Given the description of an element on the screen output the (x, y) to click on. 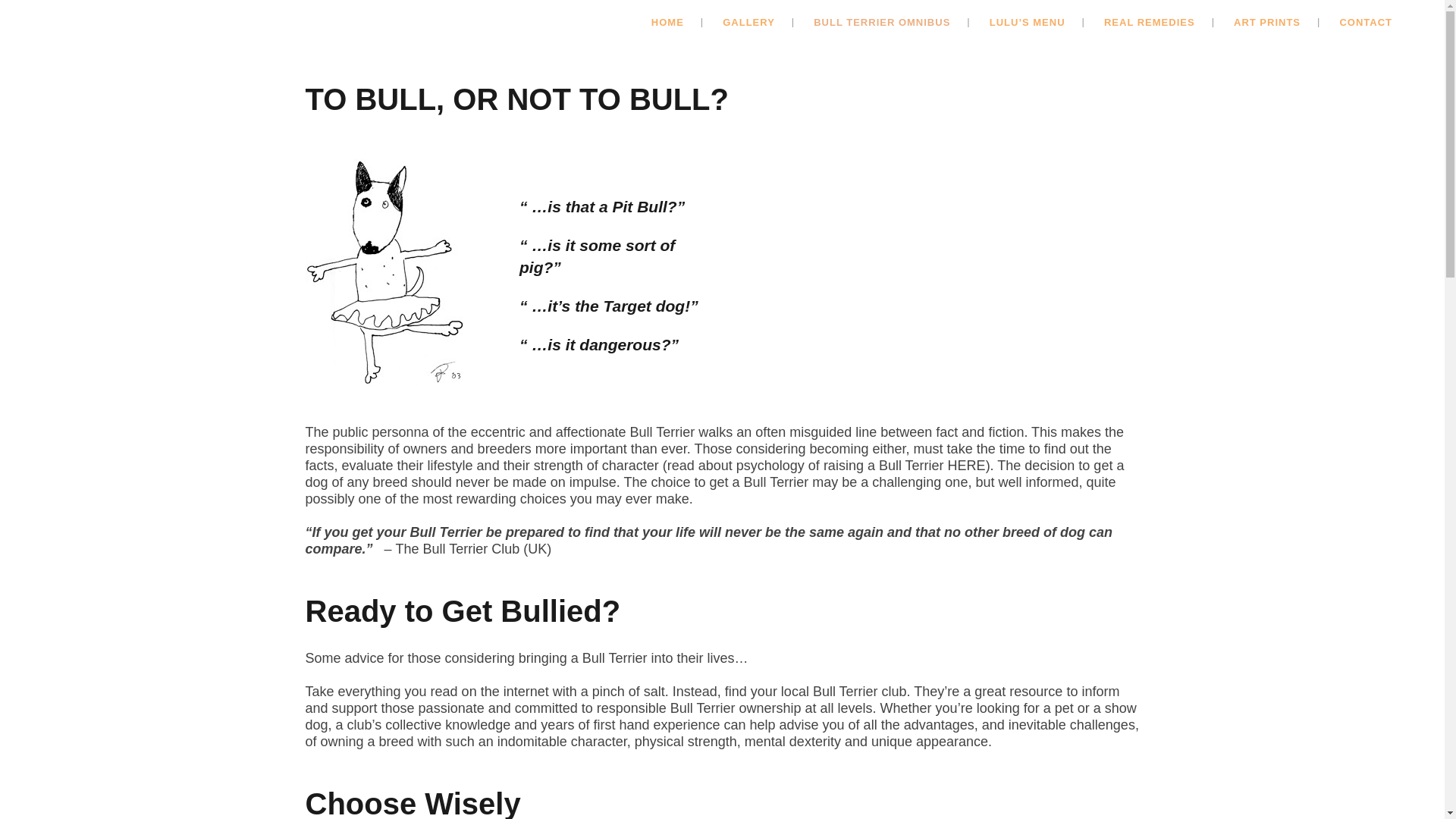
REAL REMEDIES (1149, 22)
BULL TERRIER OMNIBUS (881, 22)
CONTACT (1365, 22)
The Bull Terrier Club (457, 548)
ART PRINTS (1267, 22)
HOME (667, 22)
HERE (966, 465)
GALLERY (748, 22)
